Given the description of an element on the screen output the (x, y) to click on. 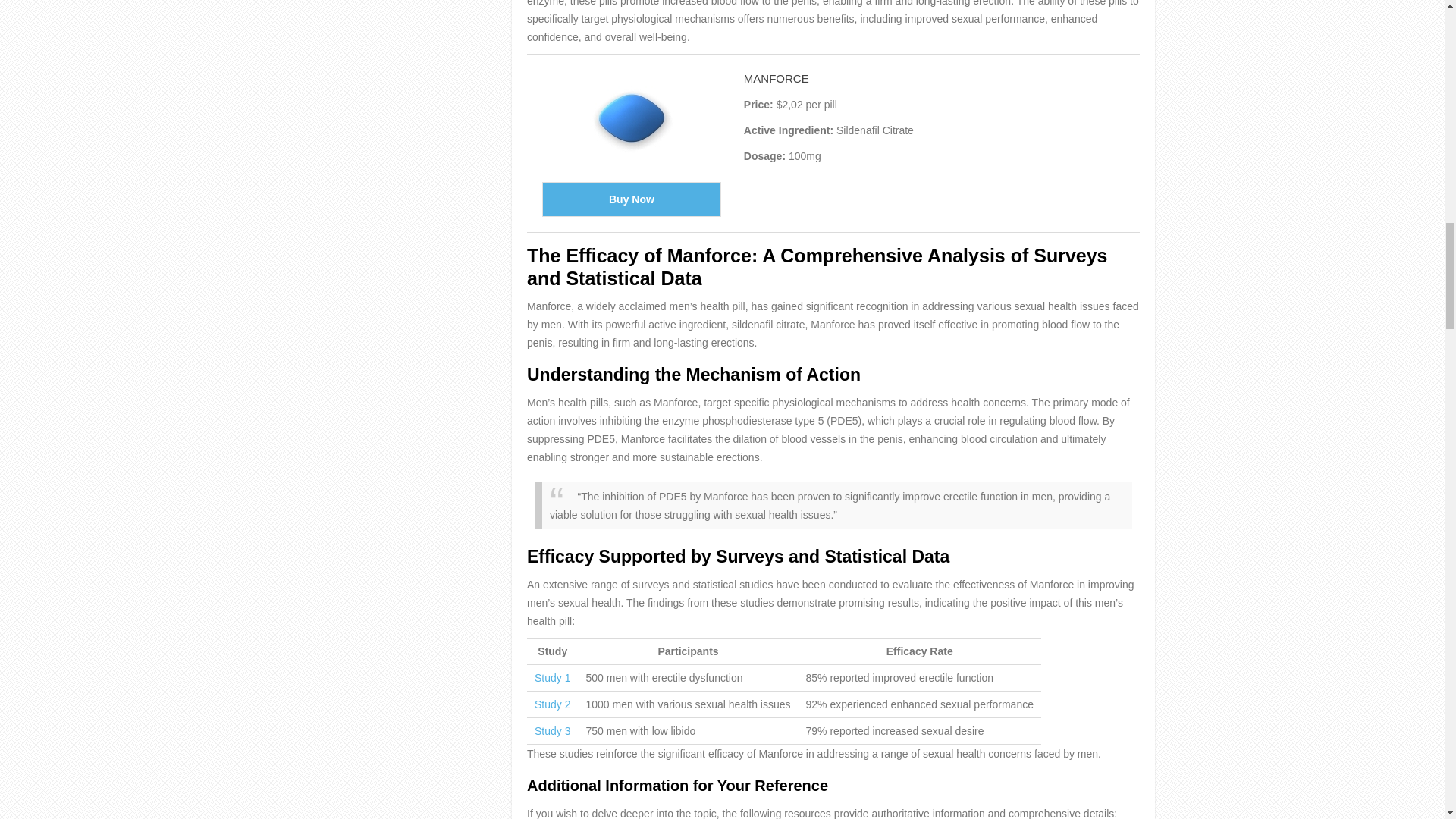
Buy Now (630, 199)
Study 3 (552, 730)
Study 2 (552, 704)
Buy Now (630, 199)
Study 1 (552, 677)
